Given the description of an element on the screen output the (x, y) to click on. 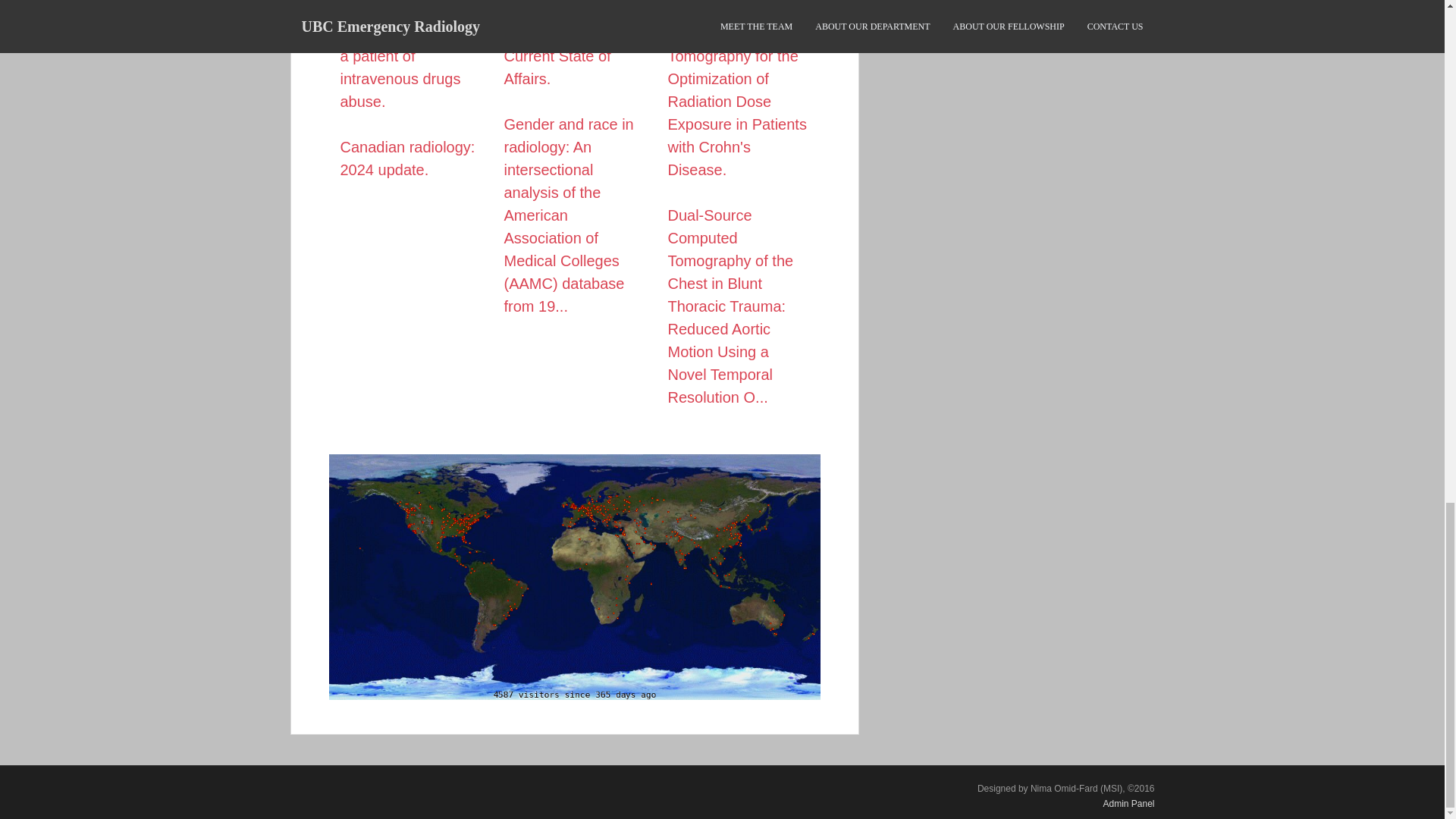
Admin Panel (1128, 803)
Canadian radiology: 2024 update. (406, 158)
Canadian radiology: 2024 update. (406, 158)
